Given the description of an element on the screen output the (x, y) to click on. 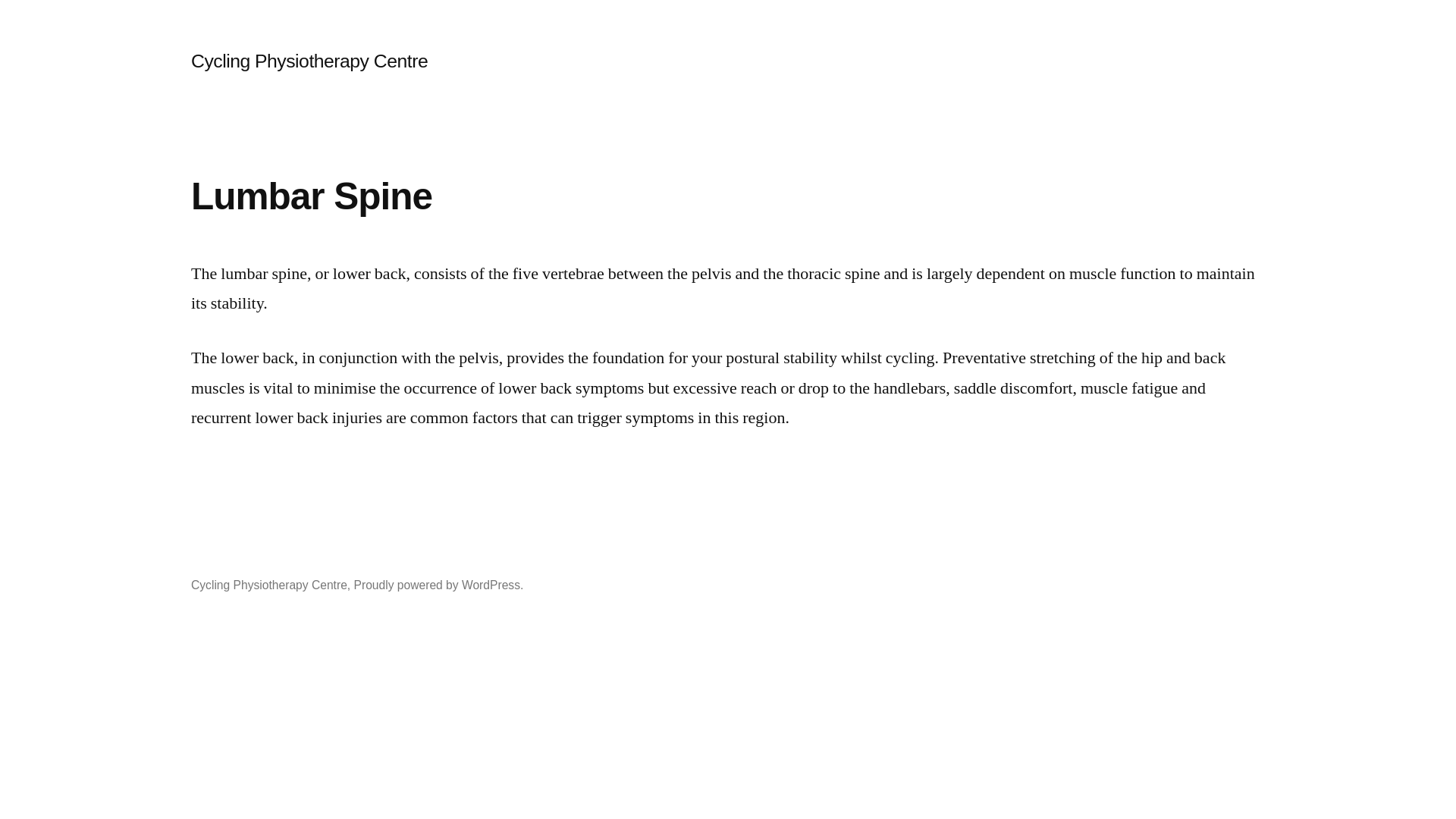
Proudly powered by WordPress. Element type: text (439, 584)
Cycling Physiotherapy Centre Element type: text (309, 60)
Cycling Physiotherapy Centre Element type: text (269, 584)
